Given the description of an element on the screen output the (x, y) to click on. 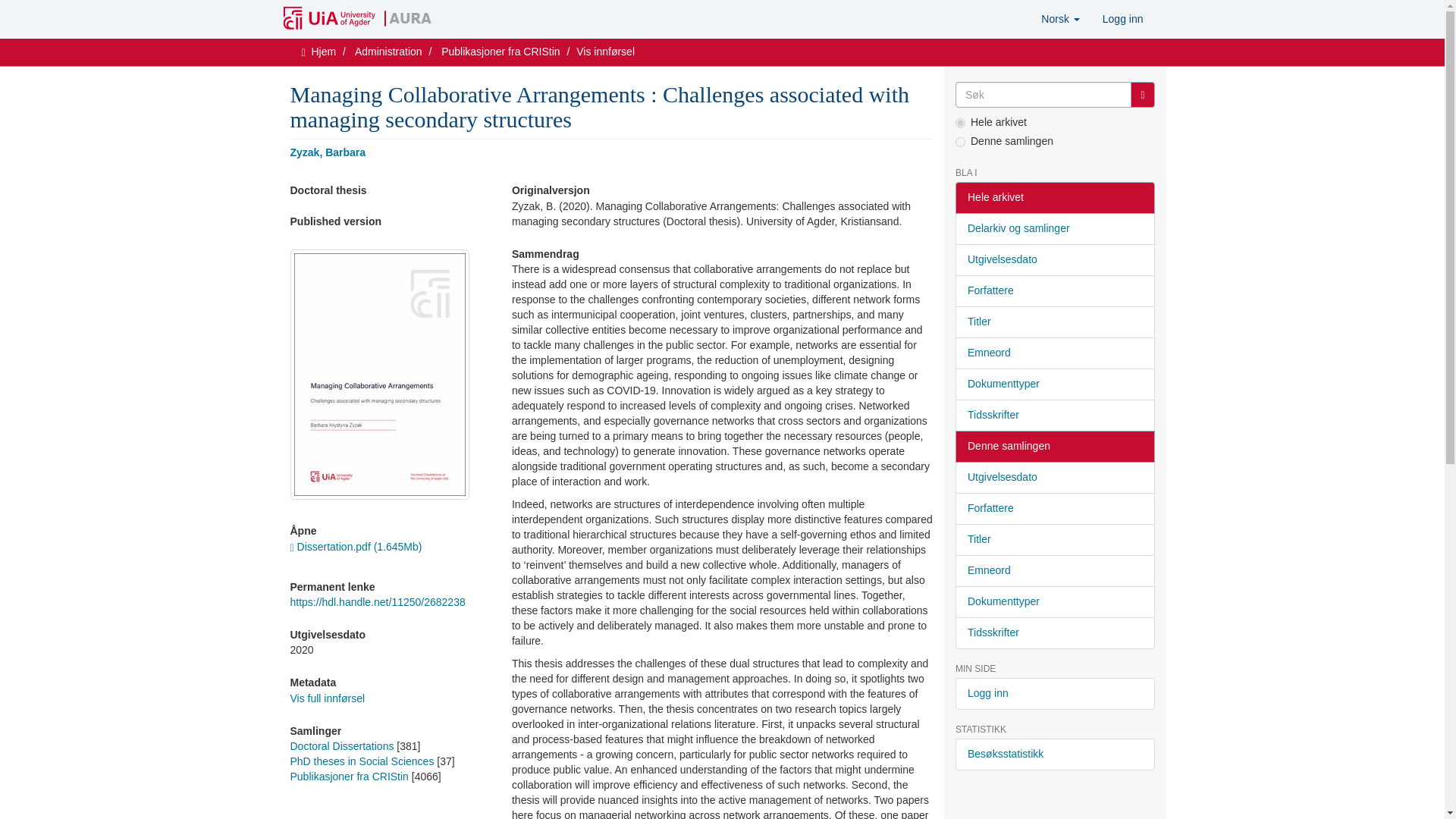
Administration (388, 51)
Utgivelsesdato (1054, 260)
Emneord (1054, 353)
Logg inn (1122, 18)
Zyzak, Barbara (327, 152)
Hjem (323, 51)
Norsk  (1059, 18)
Delarkiv og samlinger (1054, 228)
Doctoral Dissertations (341, 746)
Publikasjoner fra CRIStin (500, 51)
